Given the description of an element on the screen output the (x, y) to click on. 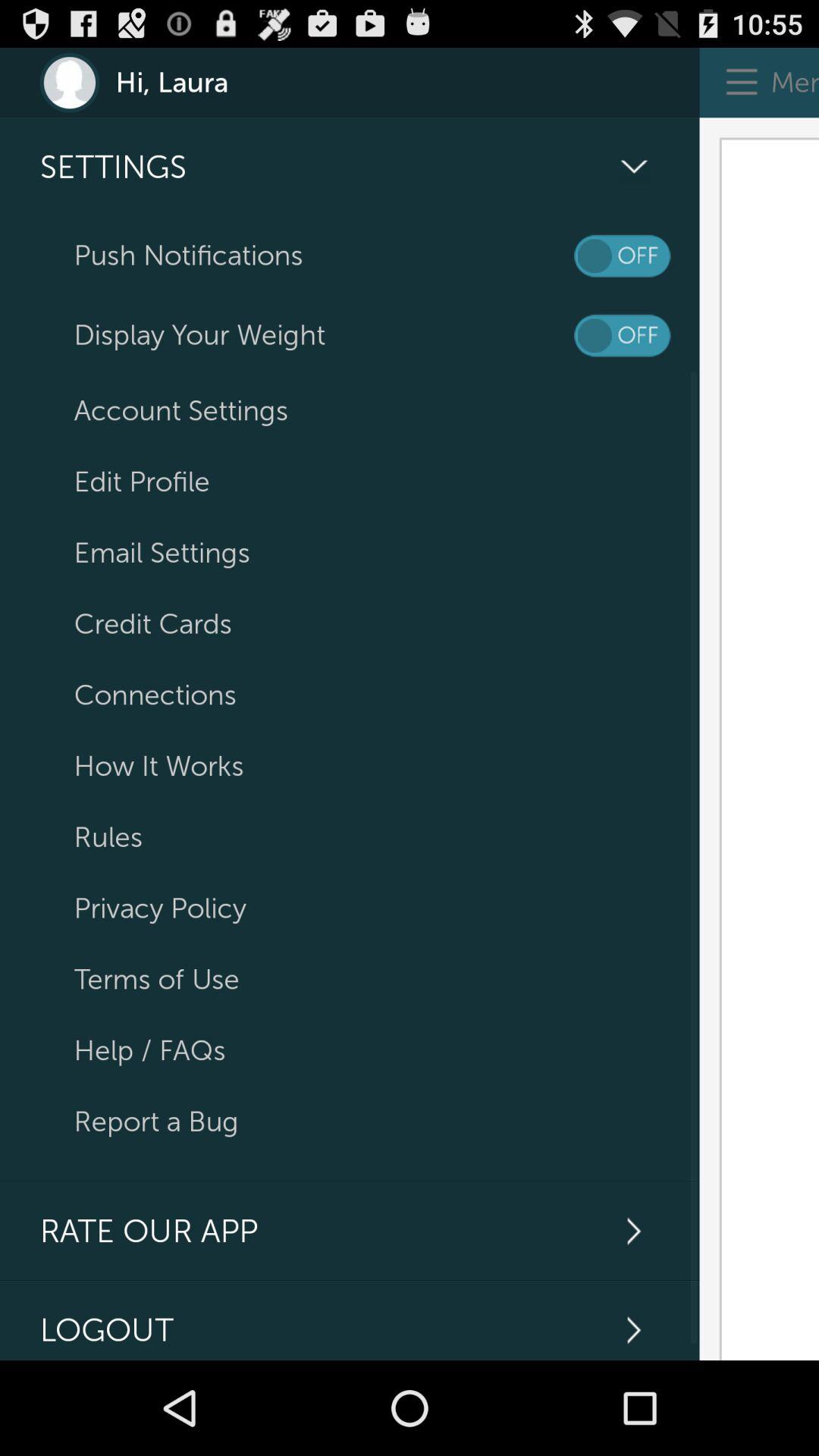
turn off notifications (622, 255)
